Given the description of an element on the screen output the (x, y) to click on. 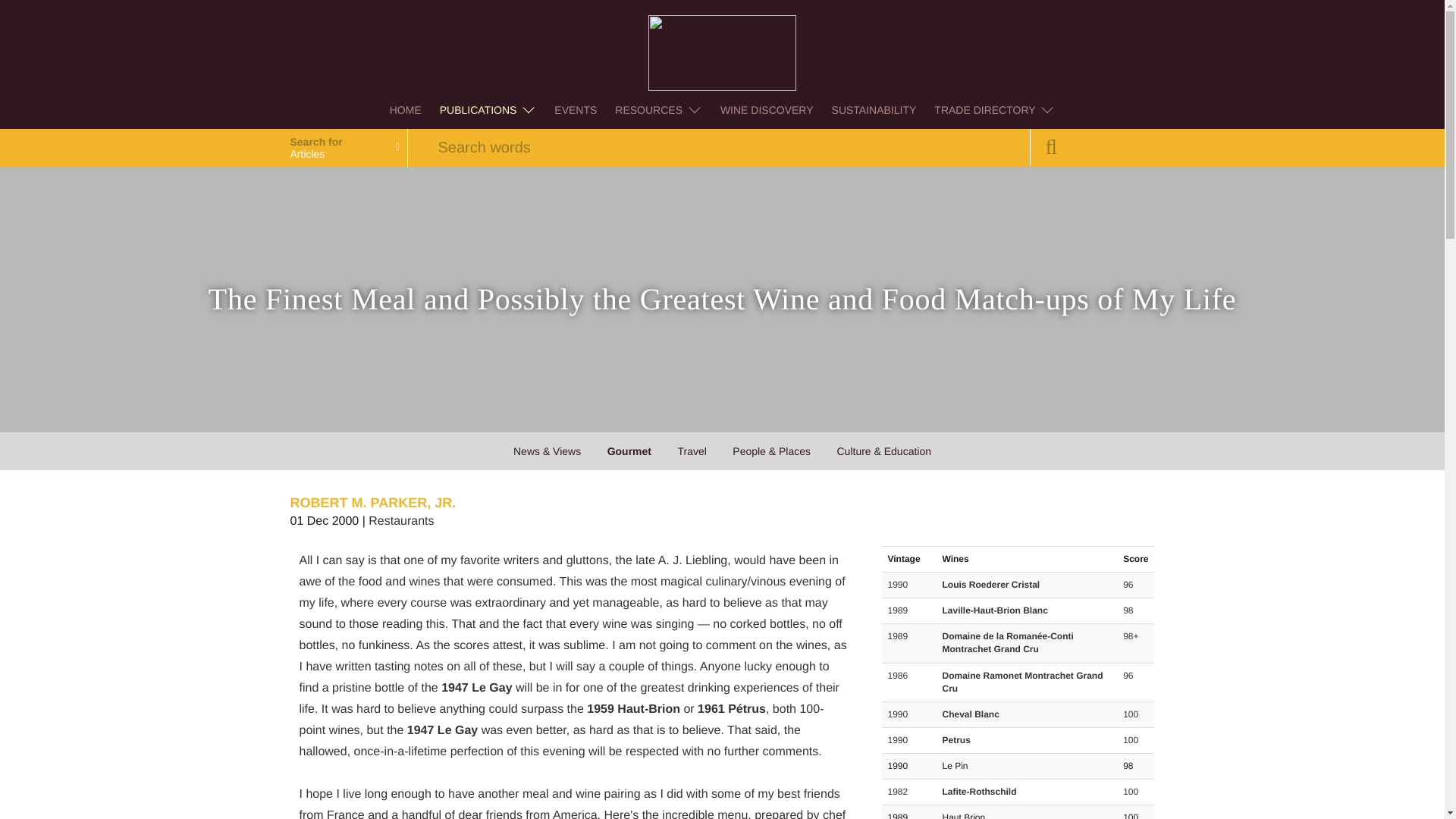
WINE DISCOVERY (766, 109)
96 (1127, 584)
SUSTAINABILITY (874, 109)
Restaurants (400, 521)
1989 (896, 610)
Louis Roederer Cristal (990, 584)
Gourmet (628, 450)
EVENTS (574, 109)
PUBLICATIONS (488, 109)
TRADE DIRECTORY (994, 109)
